Given the description of an element on the screen output the (x, y) to click on. 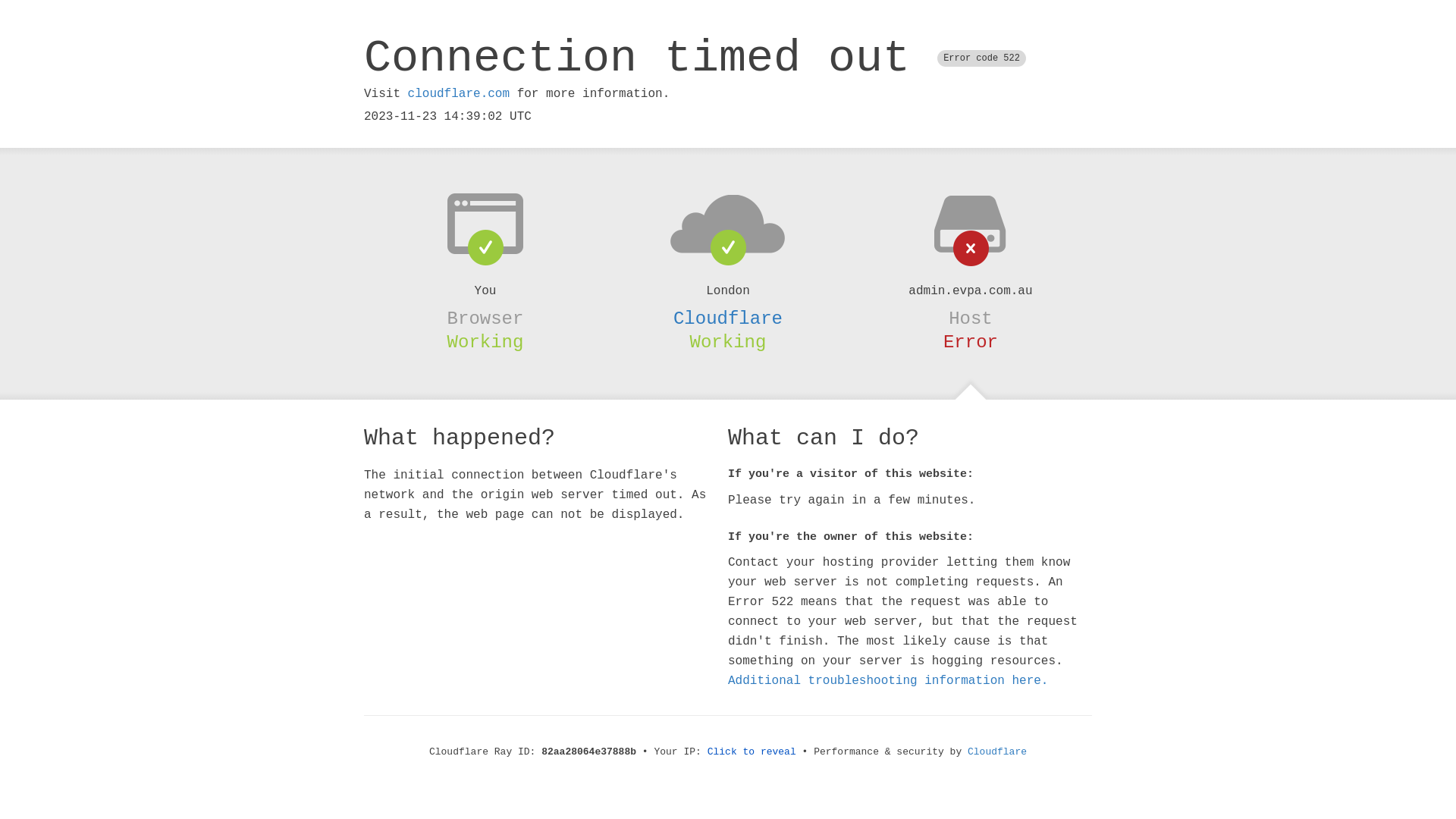
Click to reveal Element type: text (751, 751)
cloudflare.com Element type: text (458, 93)
Cloudflare Element type: text (727, 318)
Cloudflare Element type: text (996, 751)
Additional troubleshooting information here. Element type: text (888, 680)
